Given the description of an element on the screen output the (x, y) to click on. 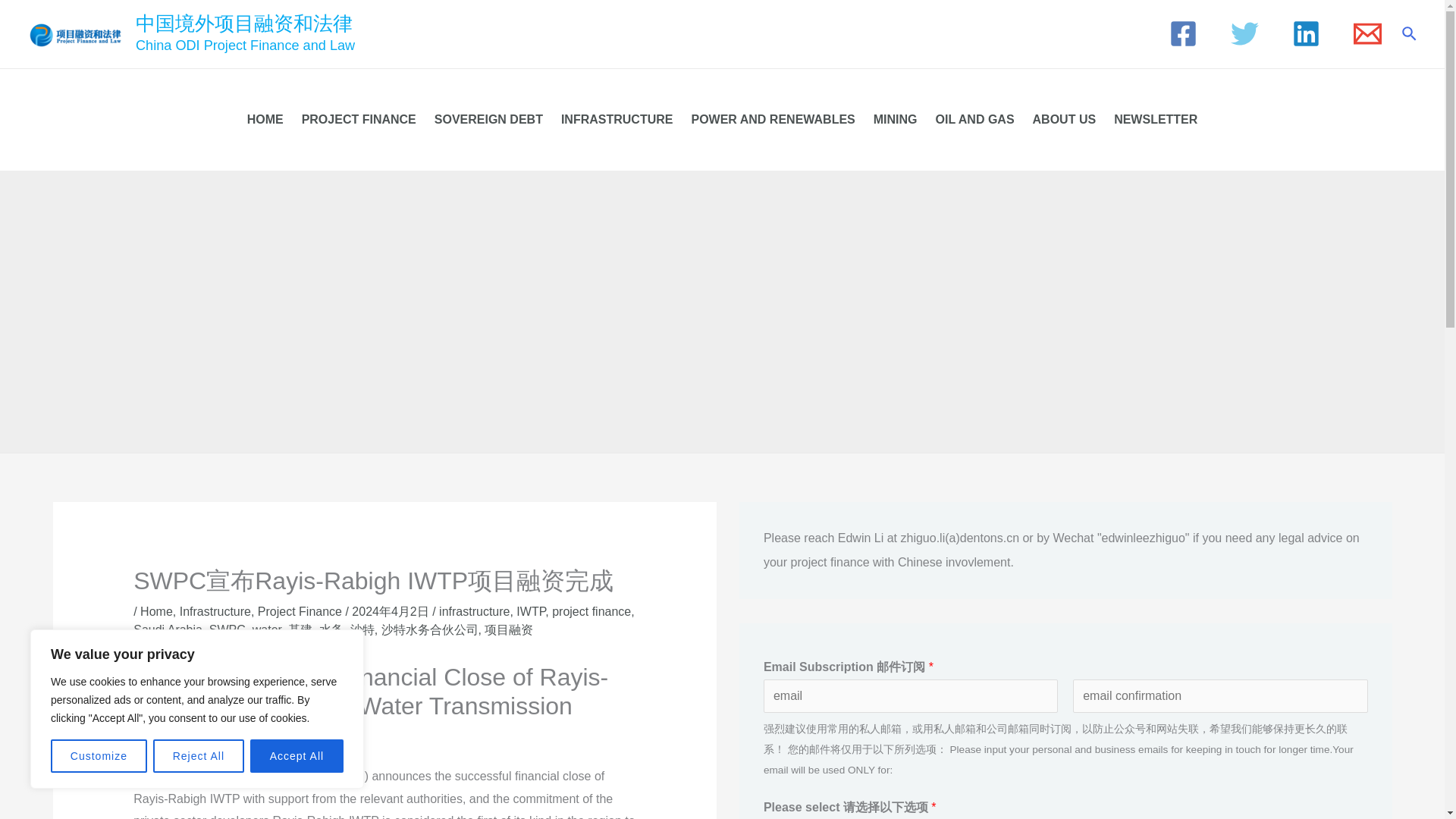
SOVEREIGN DEBT (488, 119)
Reject All (198, 756)
Accept All (296, 756)
Infrastructure (214, 611)
POWER AND RENEWABLES (772, 119)
OIL AND GAS (974, 119)
PROJECT FINANCE (358, 119)
Project Finance (299, 611)
INFRASTRUCTURE (616, 119)
NEWSLETTER (1156, 119)
